Given the description of an element on the screen output the (x, y) to click on. 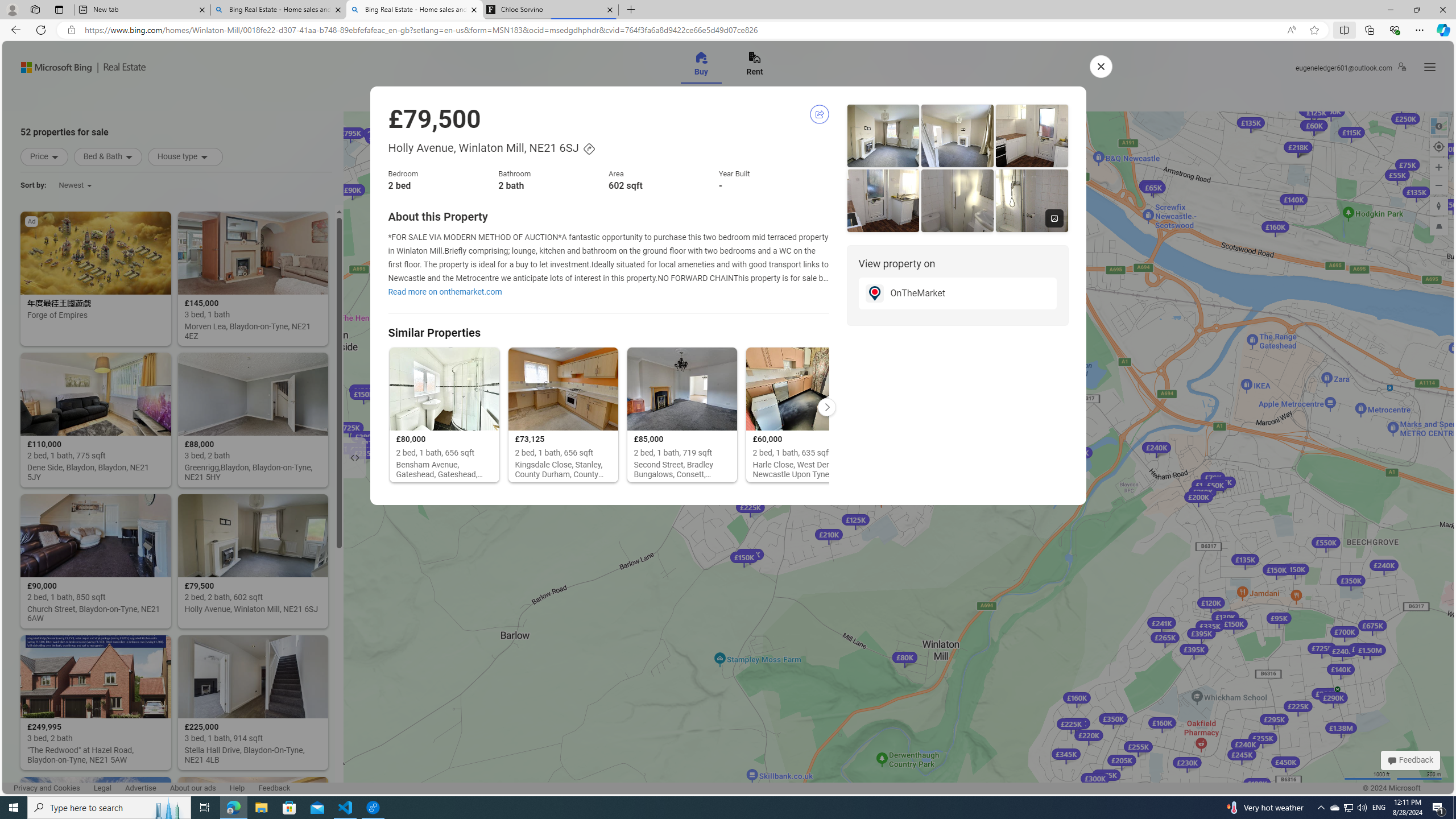
Bing Real Estate - Home sales and rental listings (414, 9)
